Given the description of an element on the screen output the (x, y) to click on. 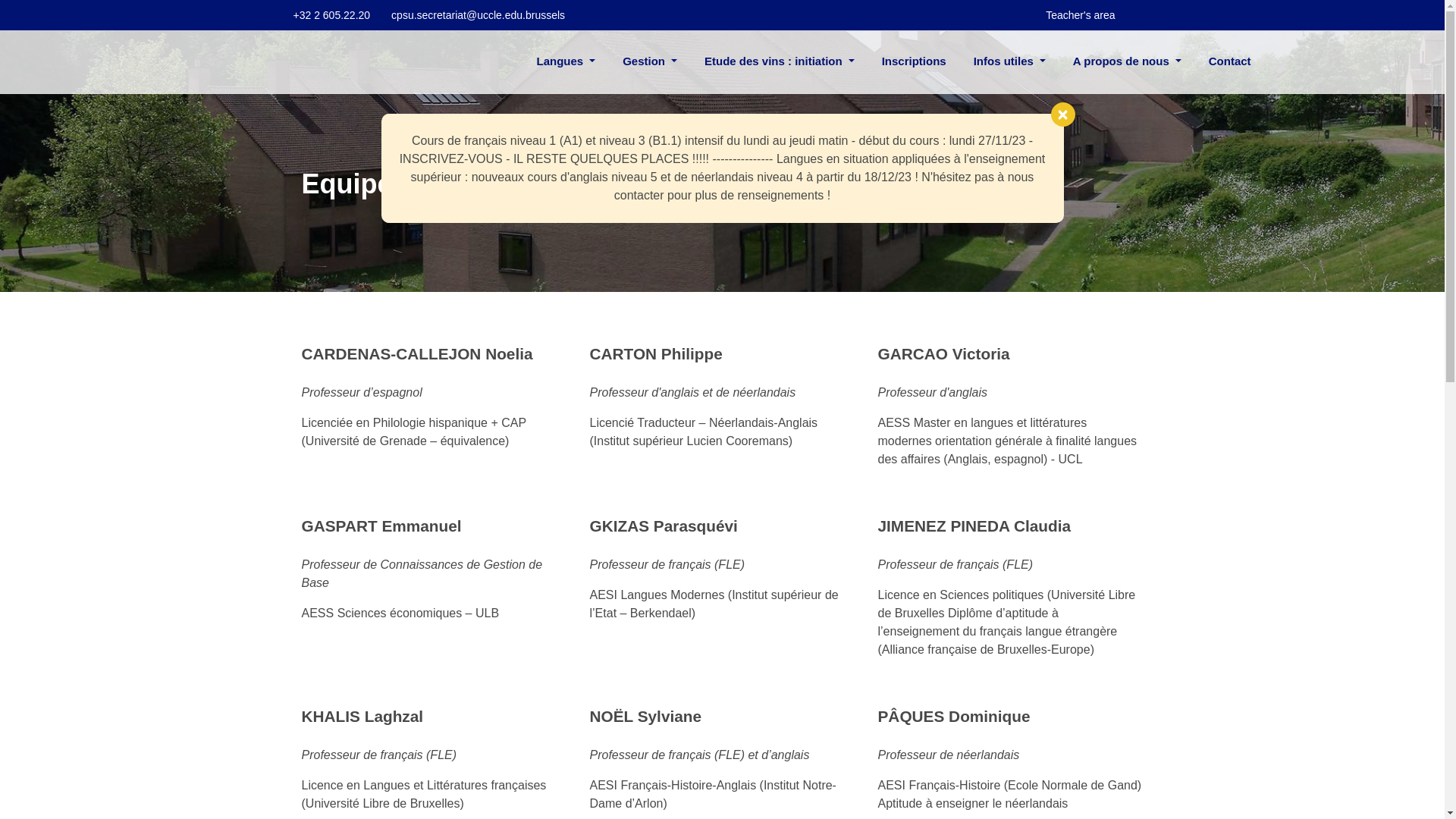
Teacher's area Element type: text (1078, 15)
+32 2 605.22.20 Element type: text (331, 15)
(current) Element type: text (506, 61)
Infos utiles Element type: text (1009, 61)
Langues Element type: text (566, 61)
Contact Element type: text (1229, 61)
Inscriptions Element type: text (913, 61)
Etude des vins : initiation Element type: text (779, 61)
Gestion Element type: text (649, 61)
cpsu.secretariat@uccle.edu.brussels Element type: text (477, 15)
A propos de nous Element type: text (1126, 61)
